Given the description of an element on the screen output the (x, y) to click on. 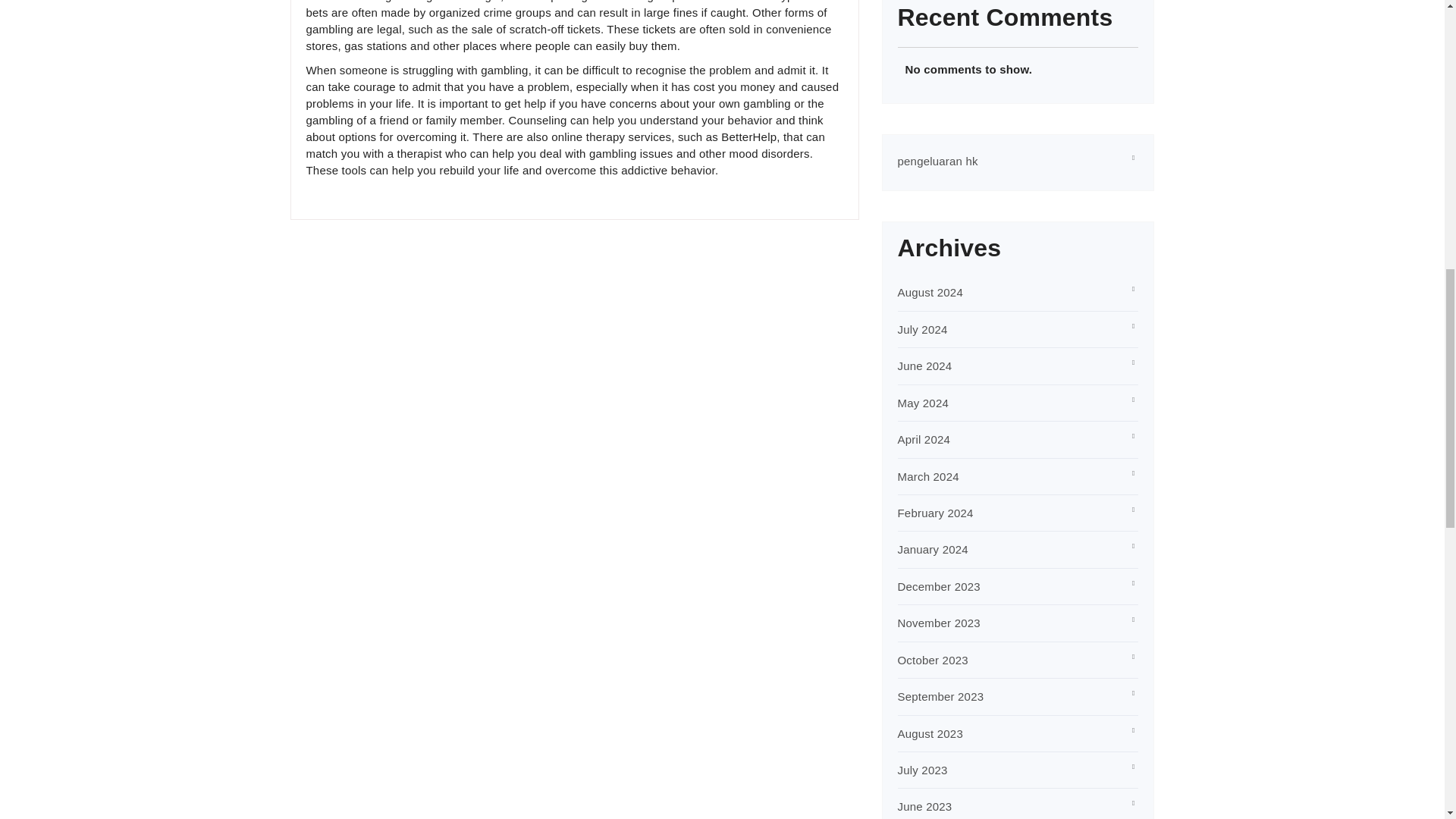
July 2023 (922, 769)
December 2023 (938, 585)
October 2023 (933, 659)
November 2023 (938, 622)
March 2024 (928, 476)
August 2024 (930, 291)
September 2023 (941, 696)
April 2024 (924, 439)
February 2024 (936, 512)
August 2023 (930, 733)
